Given the description of an element on the screen output the (x, y) to click on. 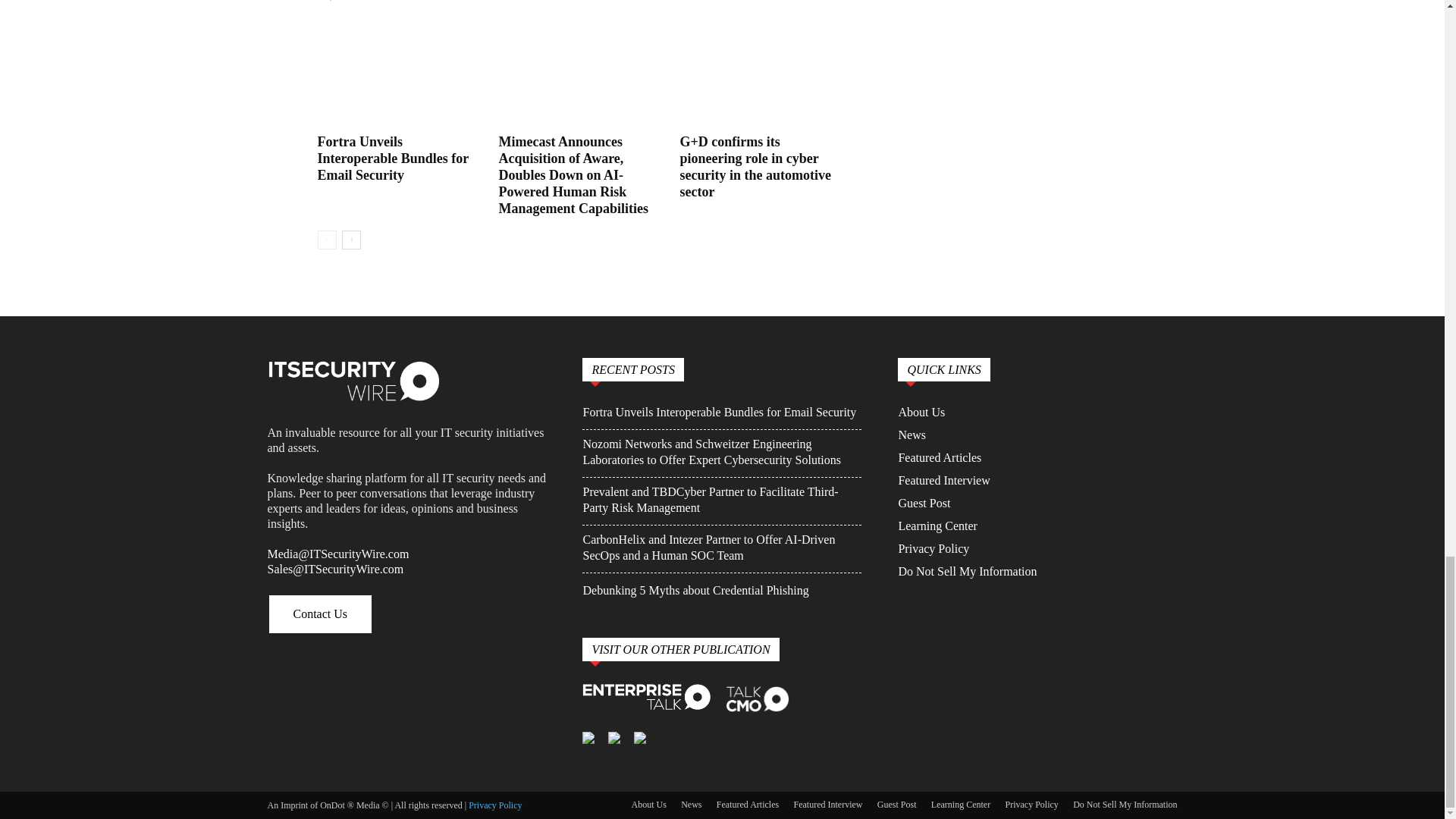
Fortra Unveils Interoperable Bundles for Email Security (399, 71)
Fortra Unveils Interoperable Bundles for Email Security (392, 158)
